Given the description of an element on the screen output the (x, y) to click on. 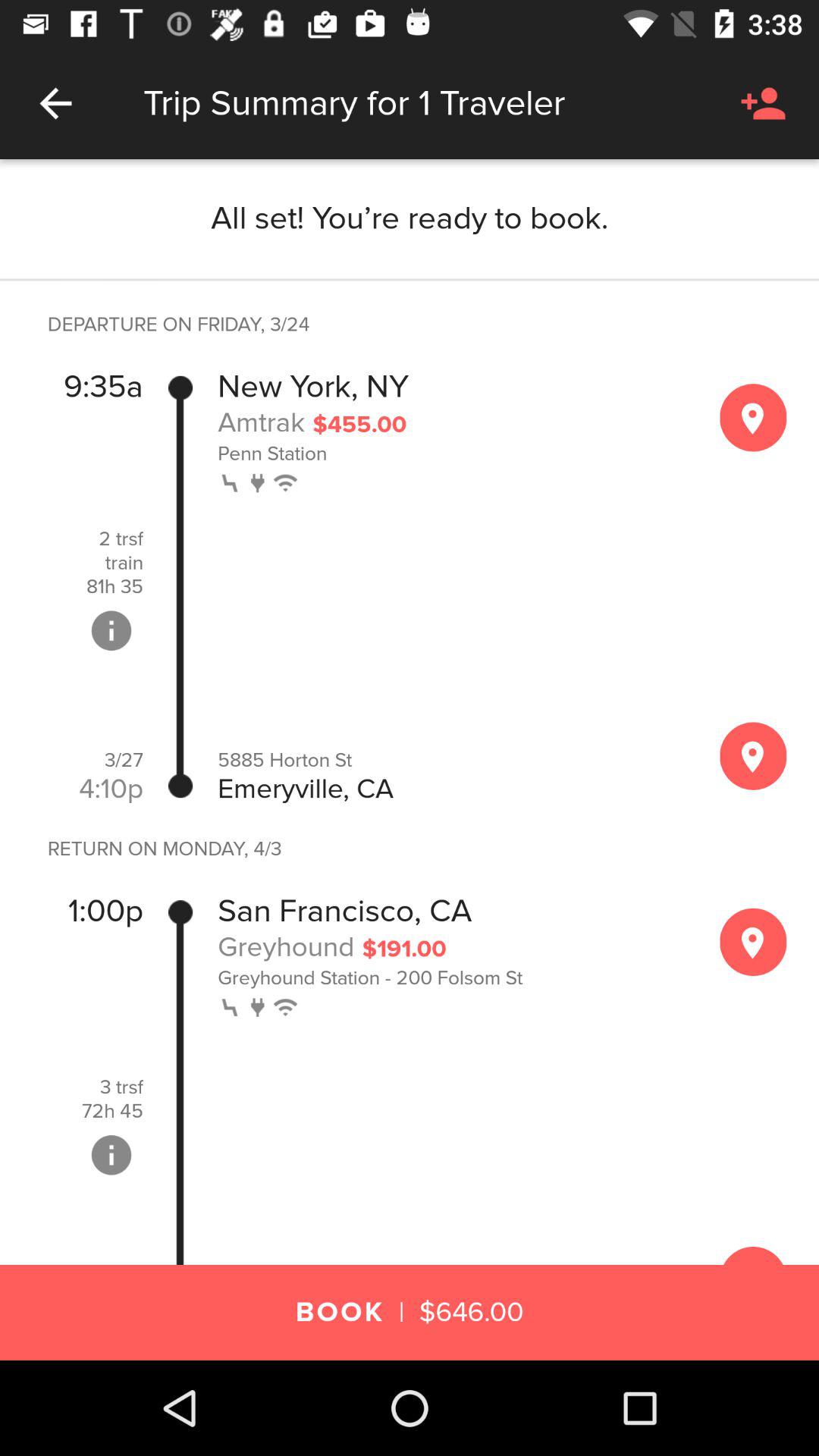
turn off item below 3/27 icon (111, 788)
